Given the description of an element on the screen output the (x, y) to click on. 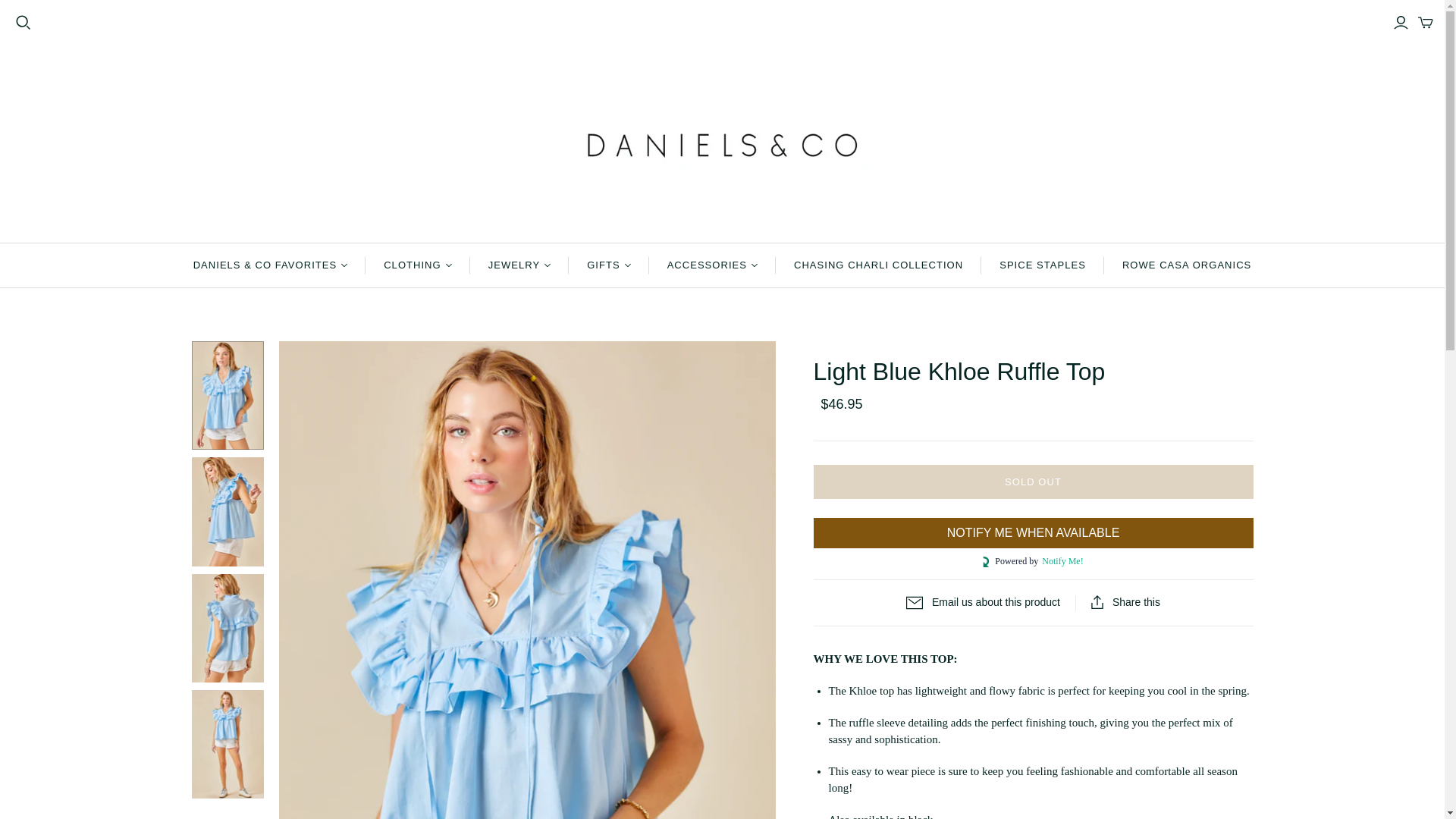
CLOTHING (417, 265)
GIFTS (608, 265)
ACCESSORIES (712, 265)
JEWELRY (519, 265)
